Given the description of an element on the screen output the (x, y) to click on. 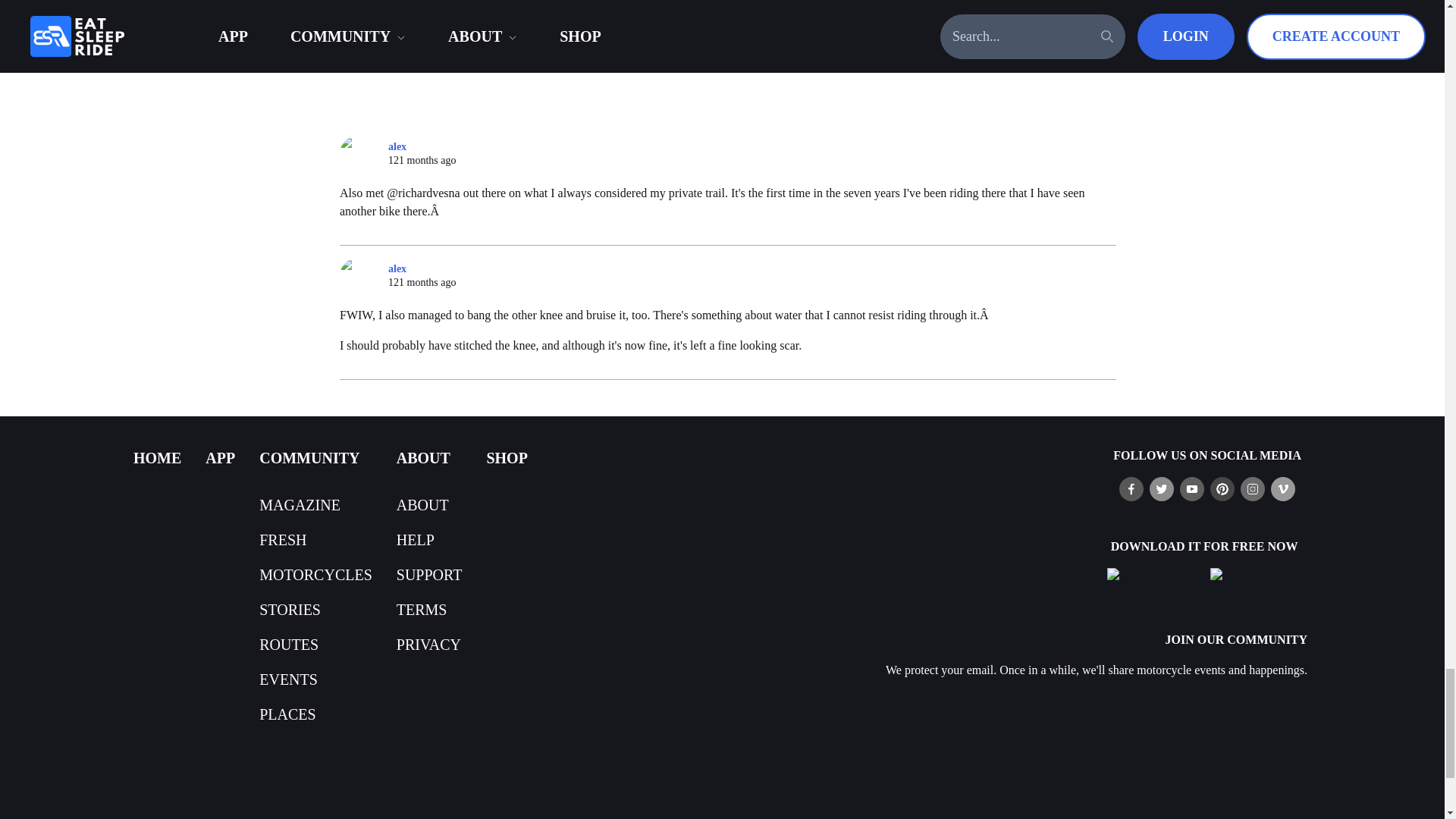
alex (363, 275)
alex (363, 153)
app (219, 457)
Home (156, 457)
